Given the description of an element on the screen output the (x, y) to click on. 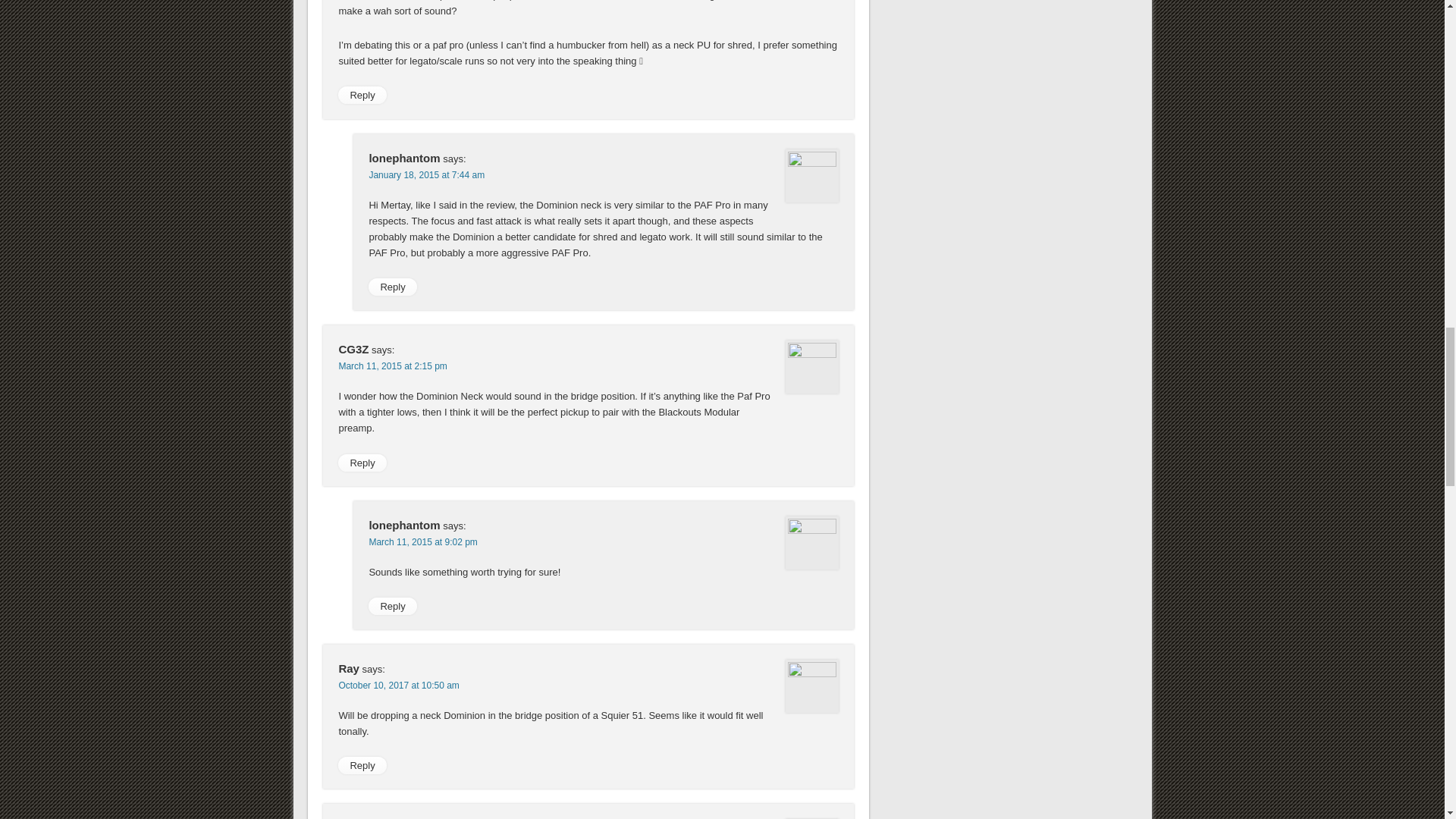
Reply (361, 95)
January 18, 2015 at 7:44 am (426, 174)
Reply (361, 462)
March 11, 2015 at 9:02 pm (422, 542)
Reply (392, 286)
March 11, 2015 at 2:15 pm (391, 366)
